Given the description of an element on the screen output the (x, y) to click on. 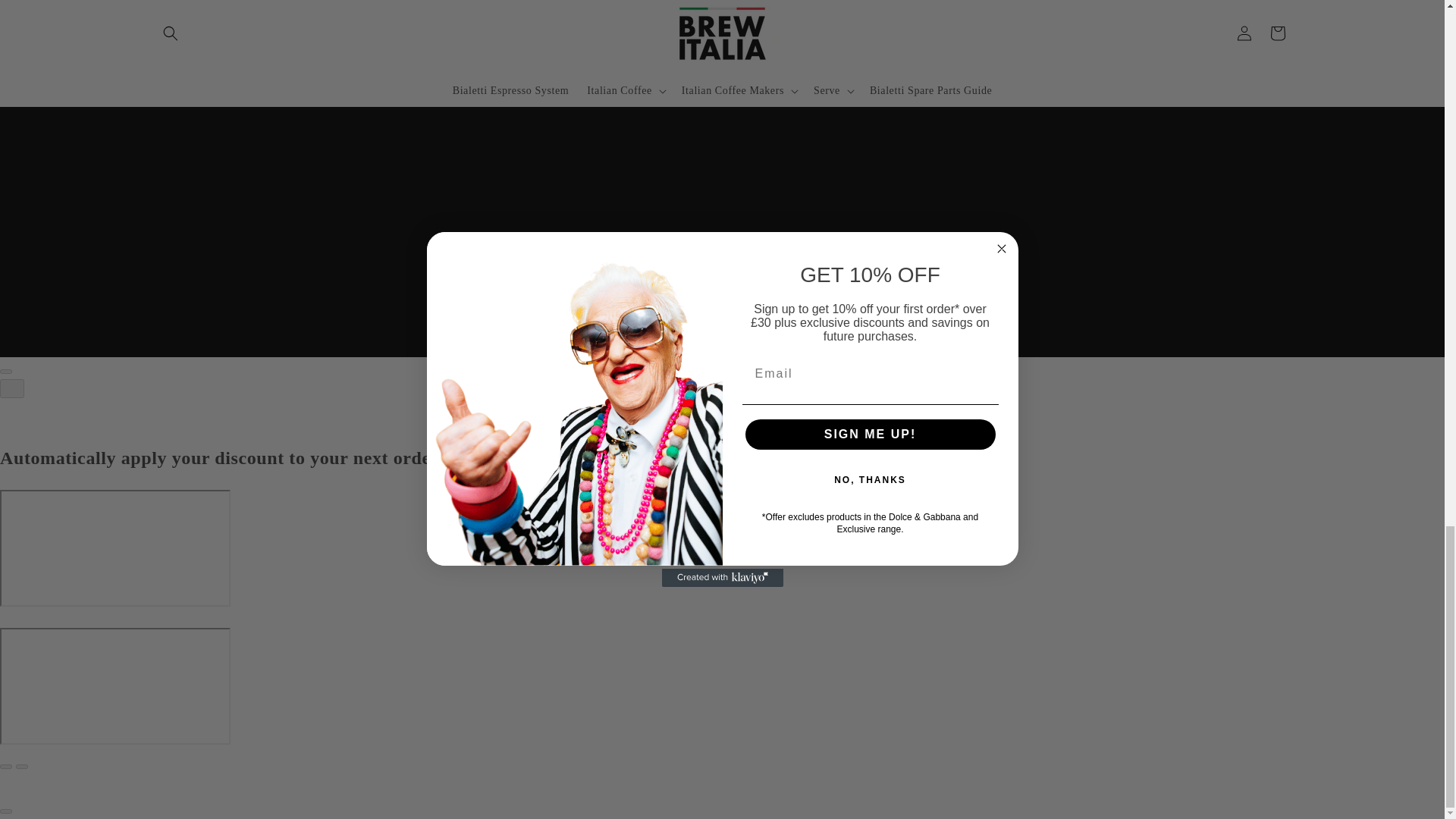
Become a brand ambassador (1149, 164)
Email (721, 267)
